Given the description of an element on the screen output the (x, y) to click on. 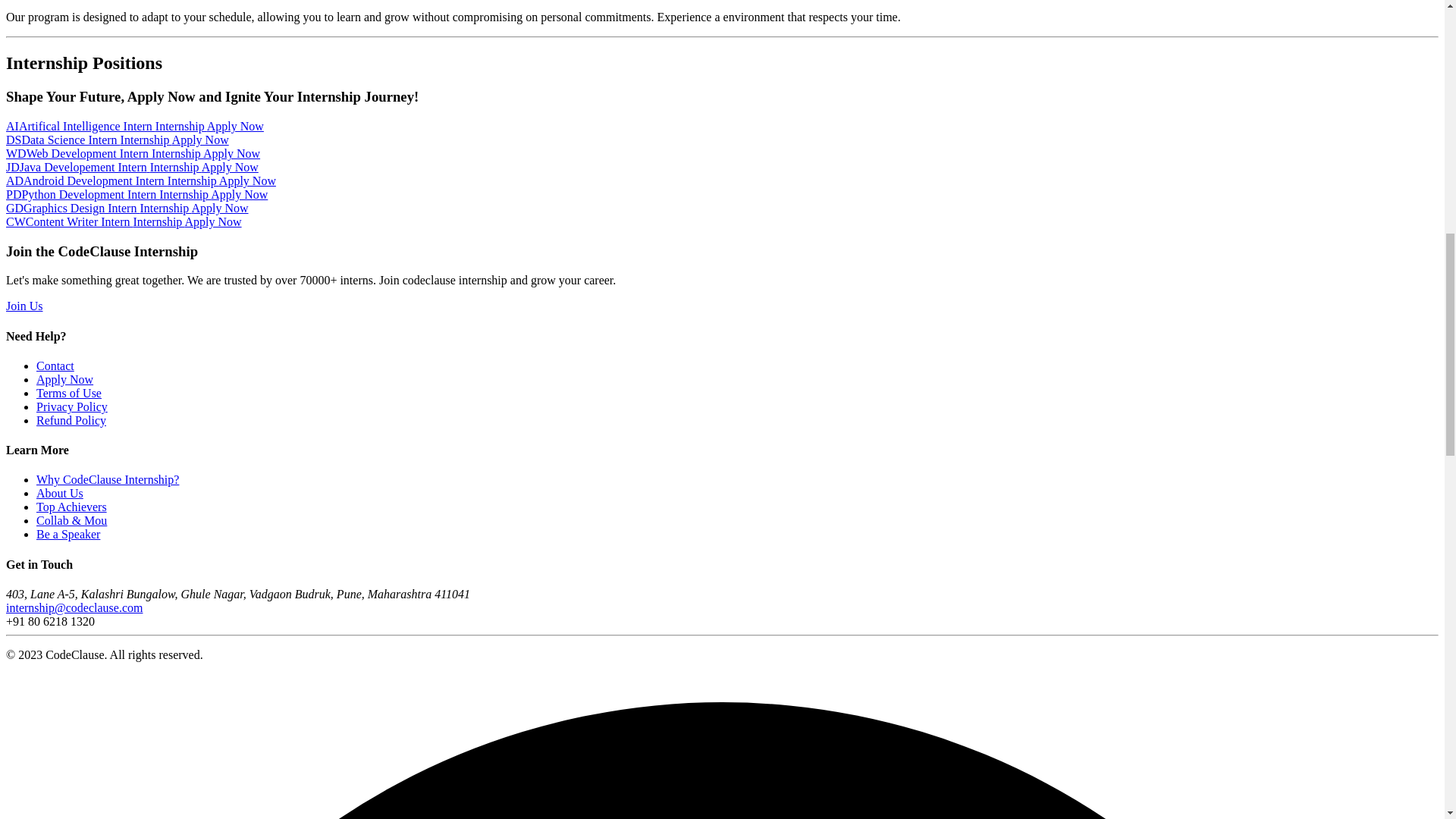
Terms of Use (68, 392)
Join Us (23, 305)
Contact (55, 365)
Apply Now (64, 379)
